Given the description of an element on the screen output the (x, y) to click on. 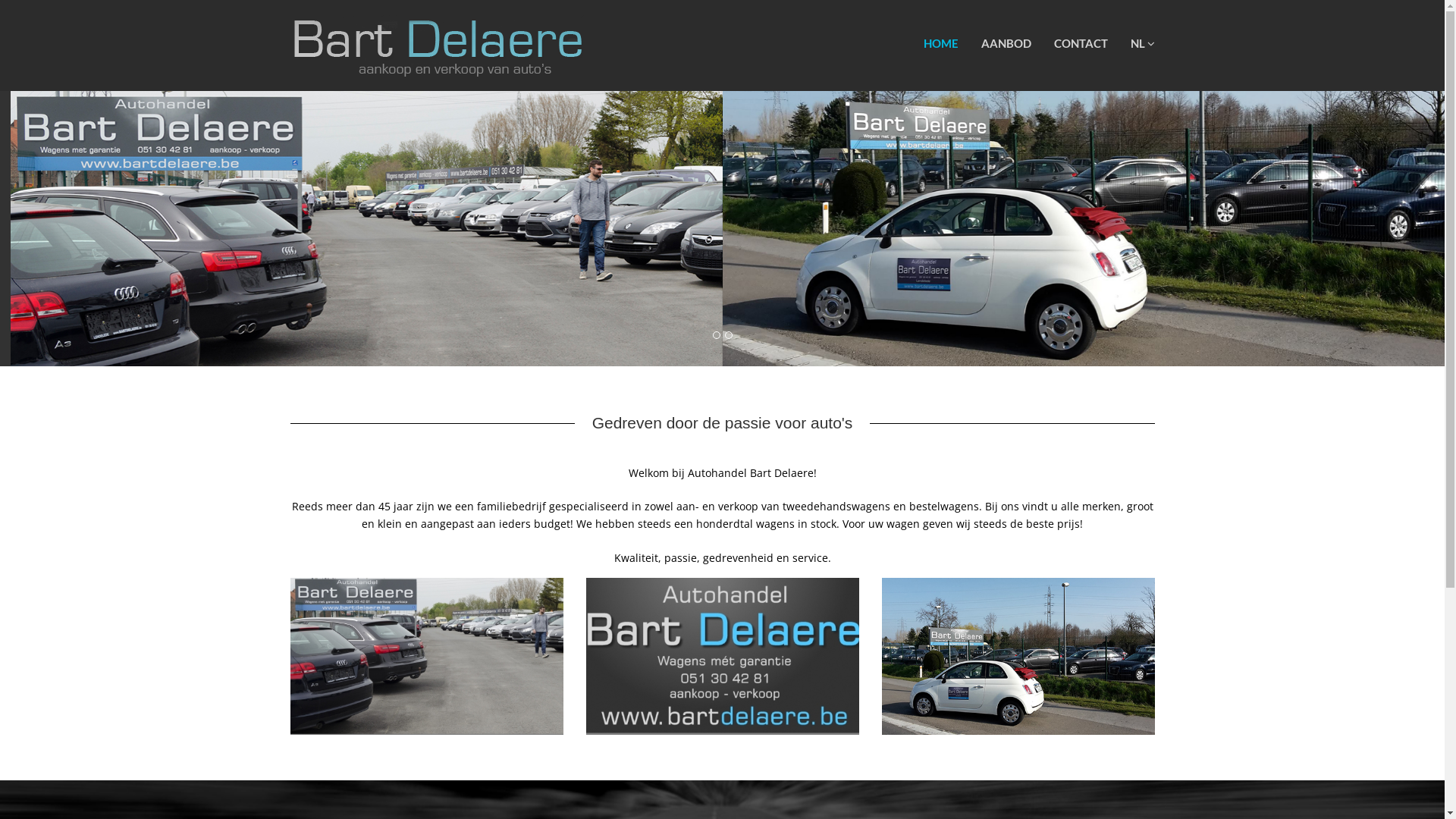
NL Element type: text (1142, 43)
HOME Element type: text (940, 43)
CONTACT Element type: text (1079, 43)
AANBOD Element type: text (1005, 43)
